Given the description of an element on the screen output the (x, y) to click on. 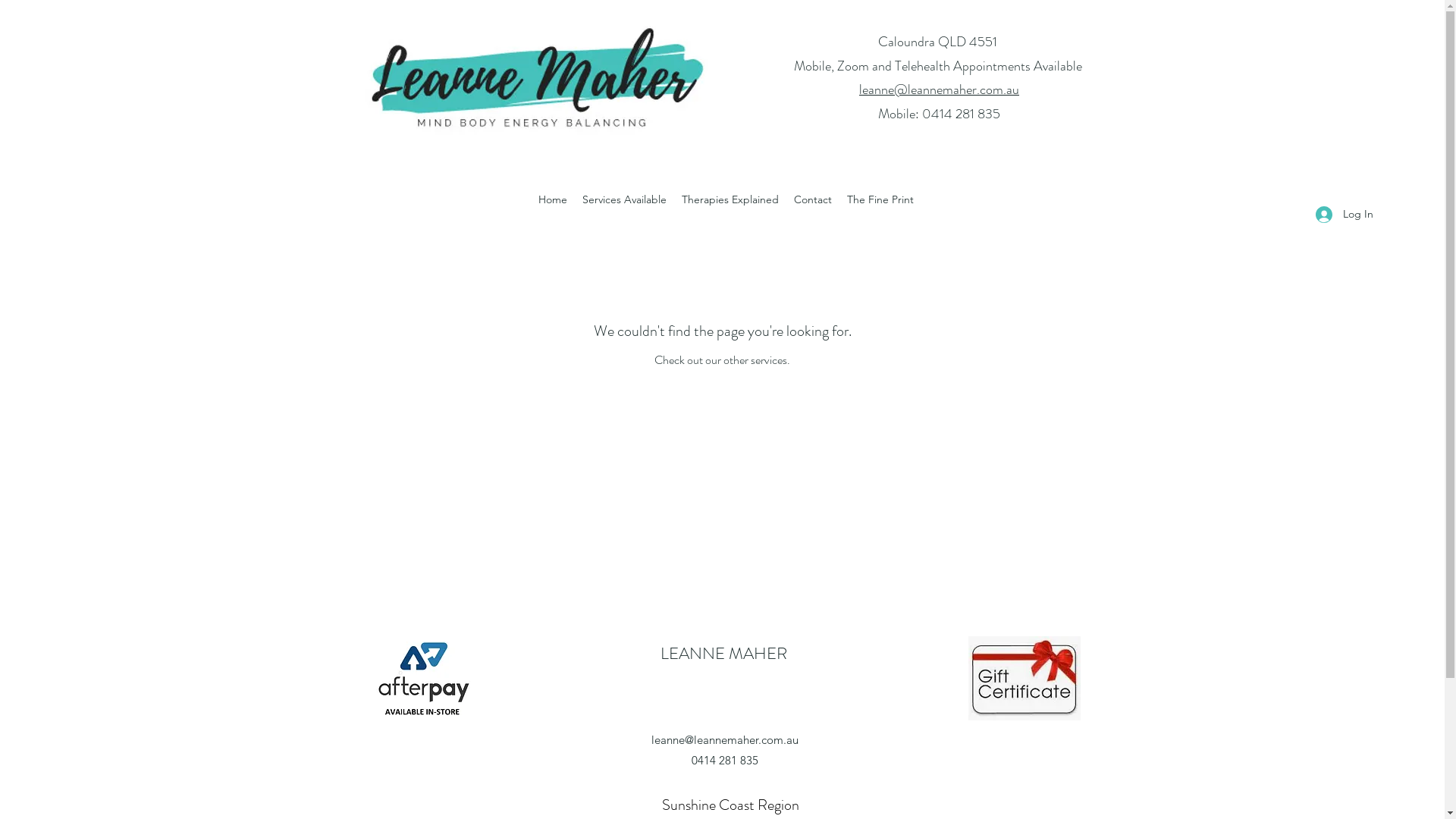
LEANNE MAHER Element type: text (723, 653)
leanne@leannemaher.com.au Element type: text (723, 739)
Contact Element type: text (812, 199)
Home Element type: text (552, 199)
Therapies Explained Element type: text (730, 199)
leanne@leannemaher.com.au Element type: text (939, 89)
afterpay.jpg Element type: hover (423, 678)
Services Available Element type: text (624, 199)
The Fine Print Element type: text (880, 199)
Log In Element type: text (1344, 214)
GIFT CERTIFICATE.JPG Element type: hover (1023, 678)
